Given the description of an element on the screen output the (x, y) to click on. 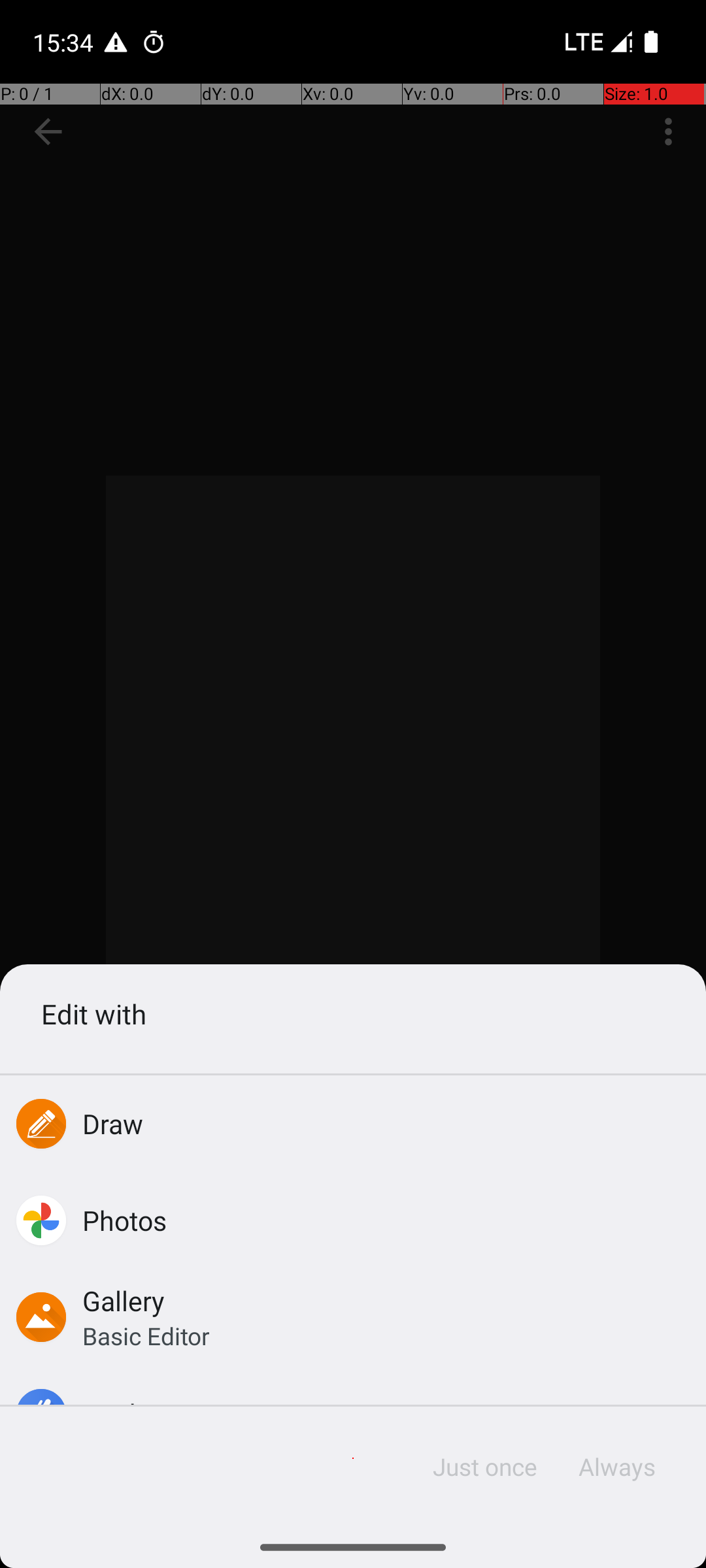
Edit with Element type: android.widget.TextView (352, 1013)
Just once Element type: android.widget.Button (484, 1466)
Always Element type: android.widget.Button (616, 1466)
Draw Element type: android.widget.TextView (112, 1123)
Gallery Element type: android.widget.TextView (123, 1300)
Basic Editor Element type: android.widget.TextView (146, 1335)
Markup Element type: android.widget.TextView (127, 1413)
